Given the description of an element on the screen output the (x, y) to click on. 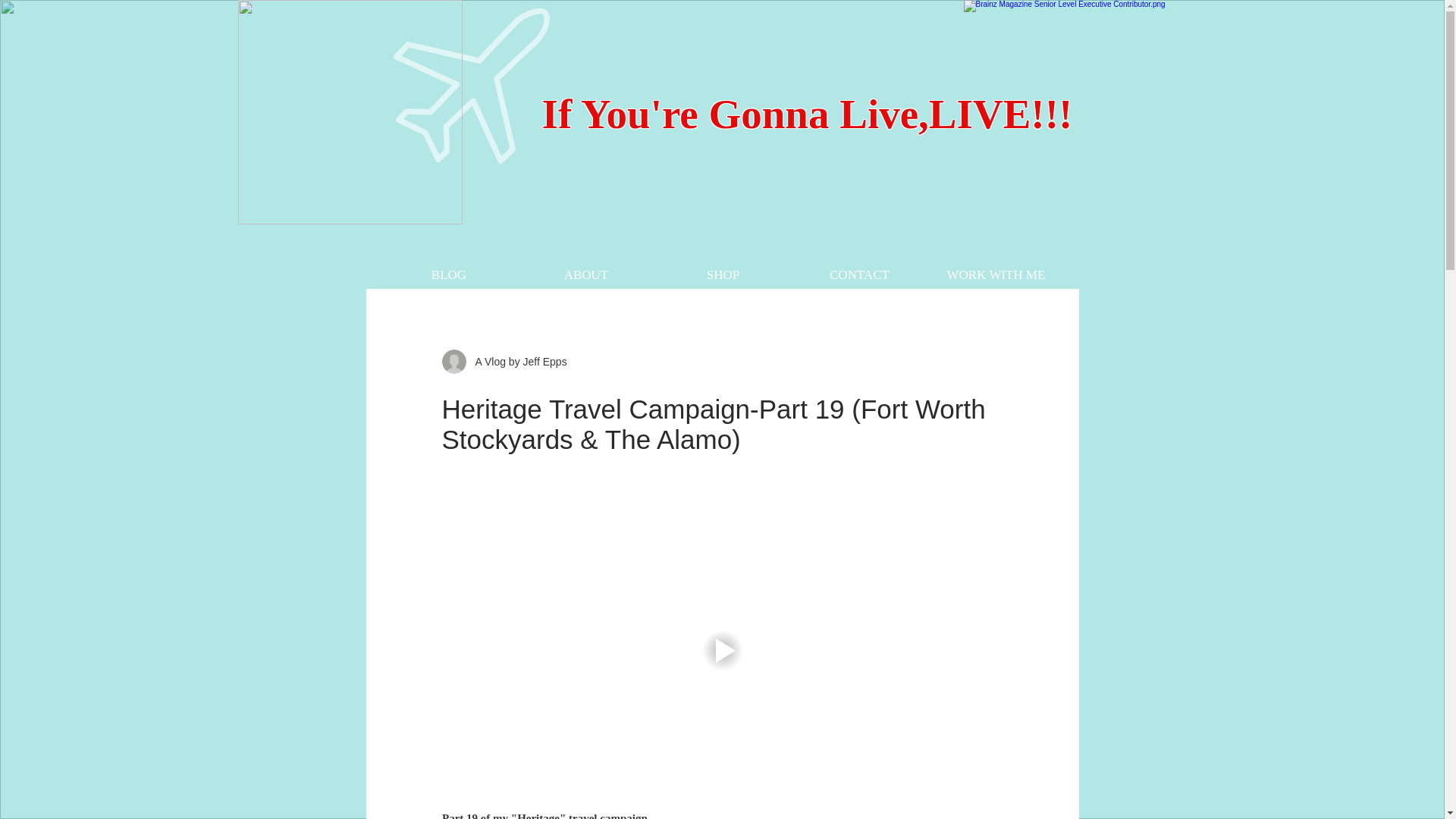
A Vlog by Jeff Epps (515, 360)
BLOG (449, 275)
SHOP (723, 275)
CONTACT (860, 275)
WORK WITH ME (996, 275)
BRAINZ BADGE HIGH RES.png (1084, 117)
ABOUT (584, 275)
